Given the description of an element on the screen output the (x, y) to click on. 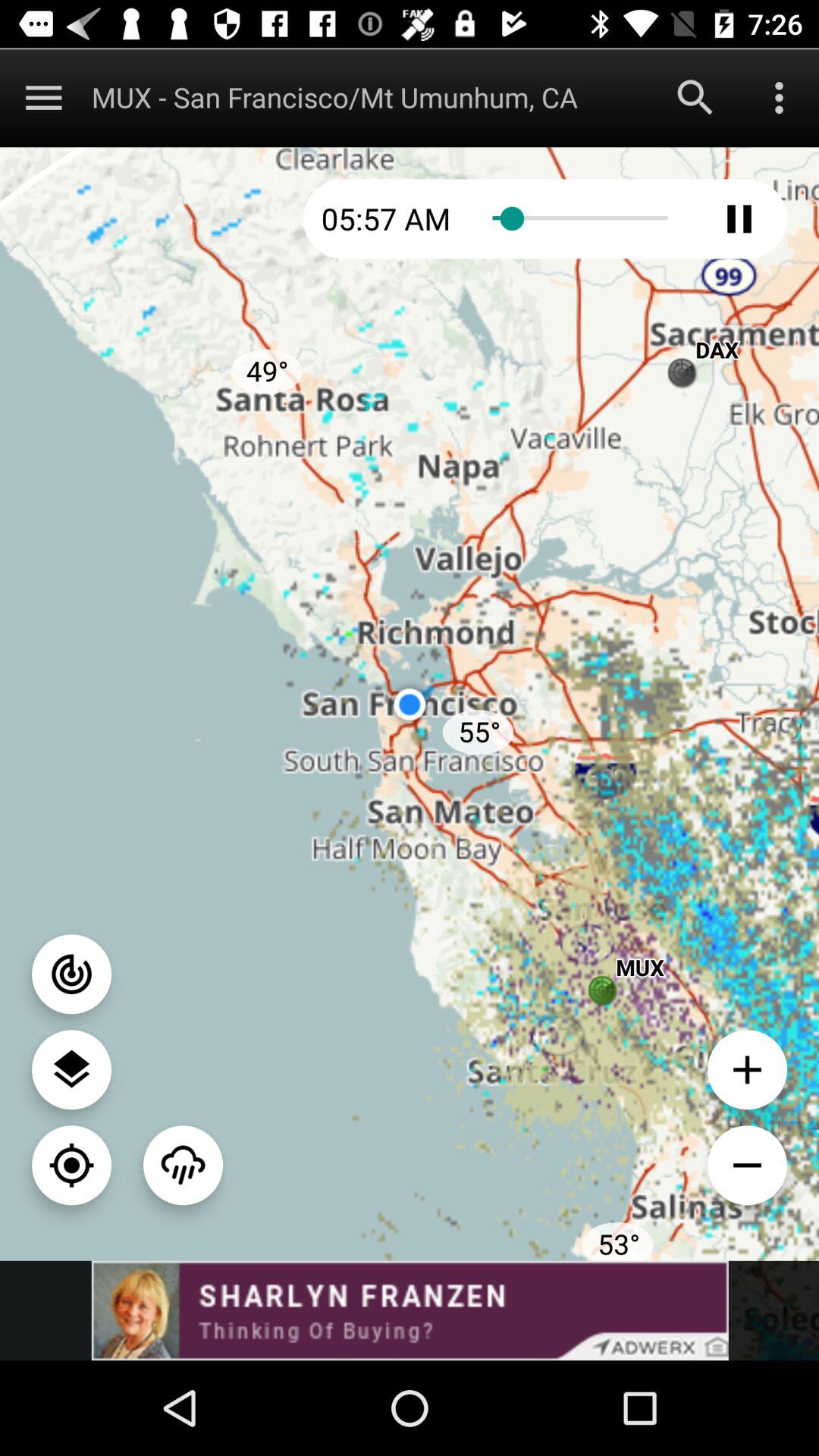
search button (695, 97)
